Given the description of an element on the screen output the (x, y) to click on. 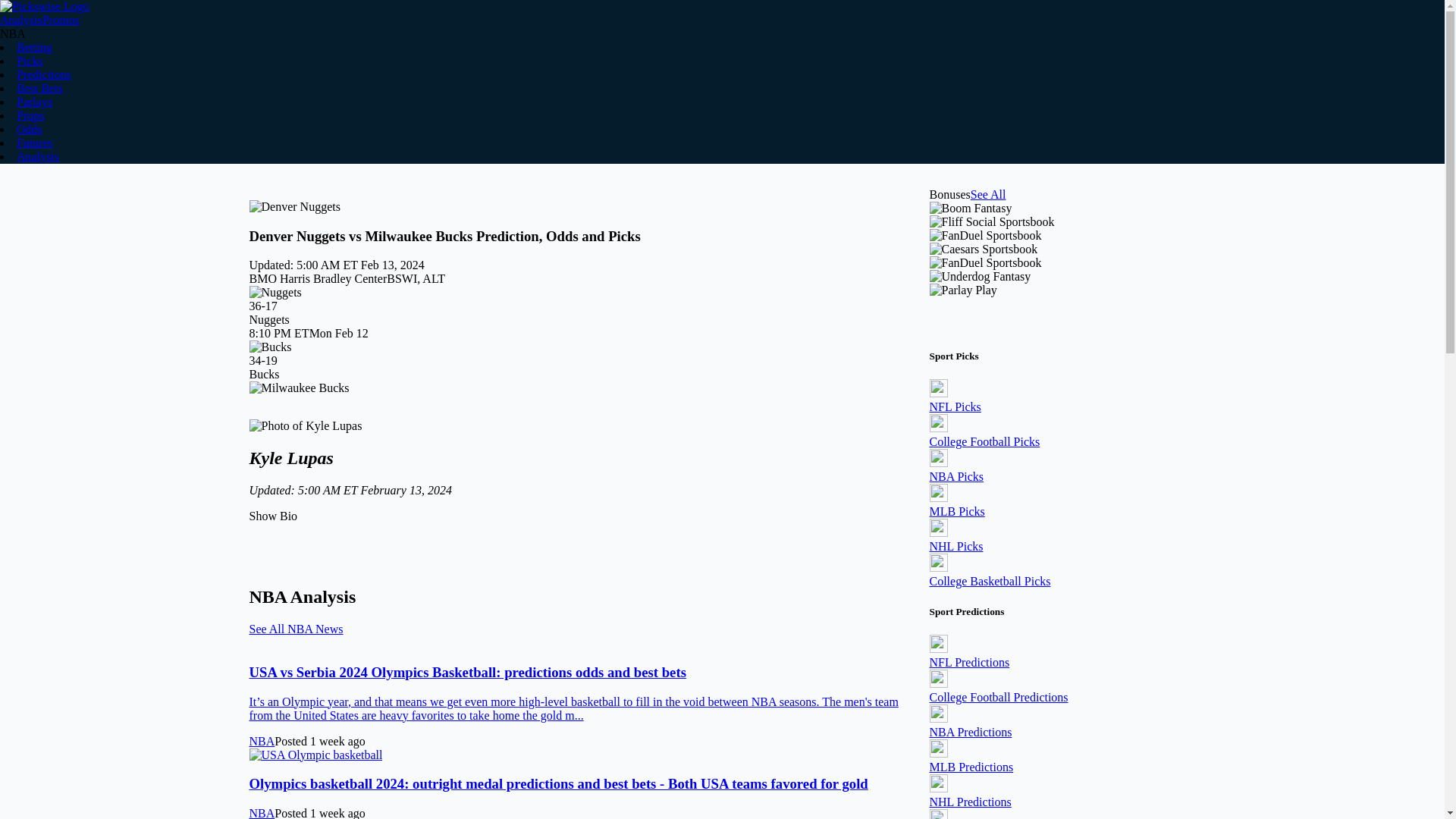
Futures (34, 142)
See All (988, 194)
Analysis (37, 155)
Betting (34, 47)
Parlays (34, 101)
Promos (61, 19)
NBA (261, 812)
See All NBA News (295, 628)
Analysis (21, 19)
Best Bets (39, 88)
Picks (29, 60)
Props (29, 115)
NBA (261, 739)
Predictions (43, 74)
